Given the description of an element on the screen output the (x, y) to click on. 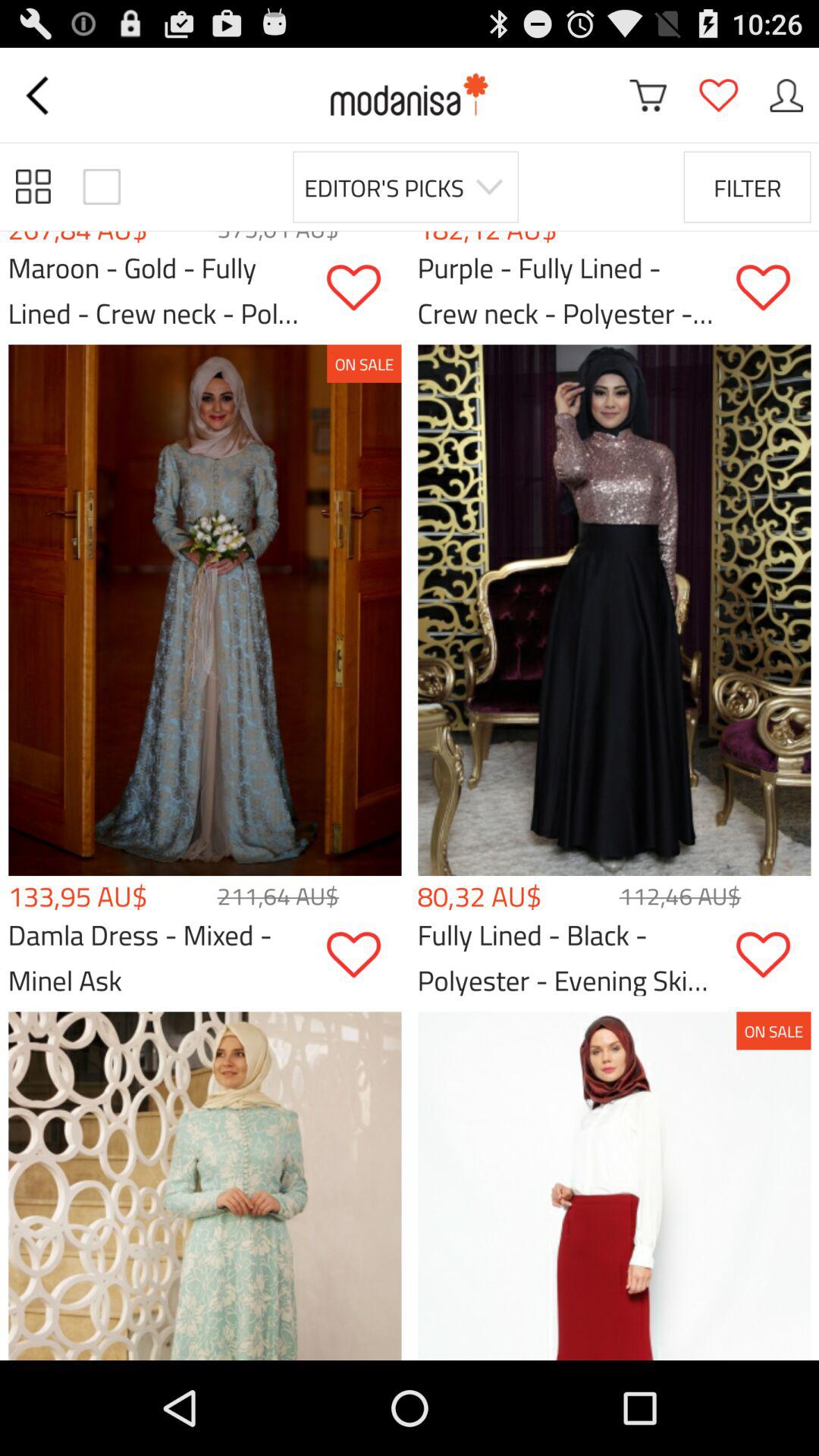
share the likes (773, 954)
